Given the description of an element on the screen output the (x, y) to click on. 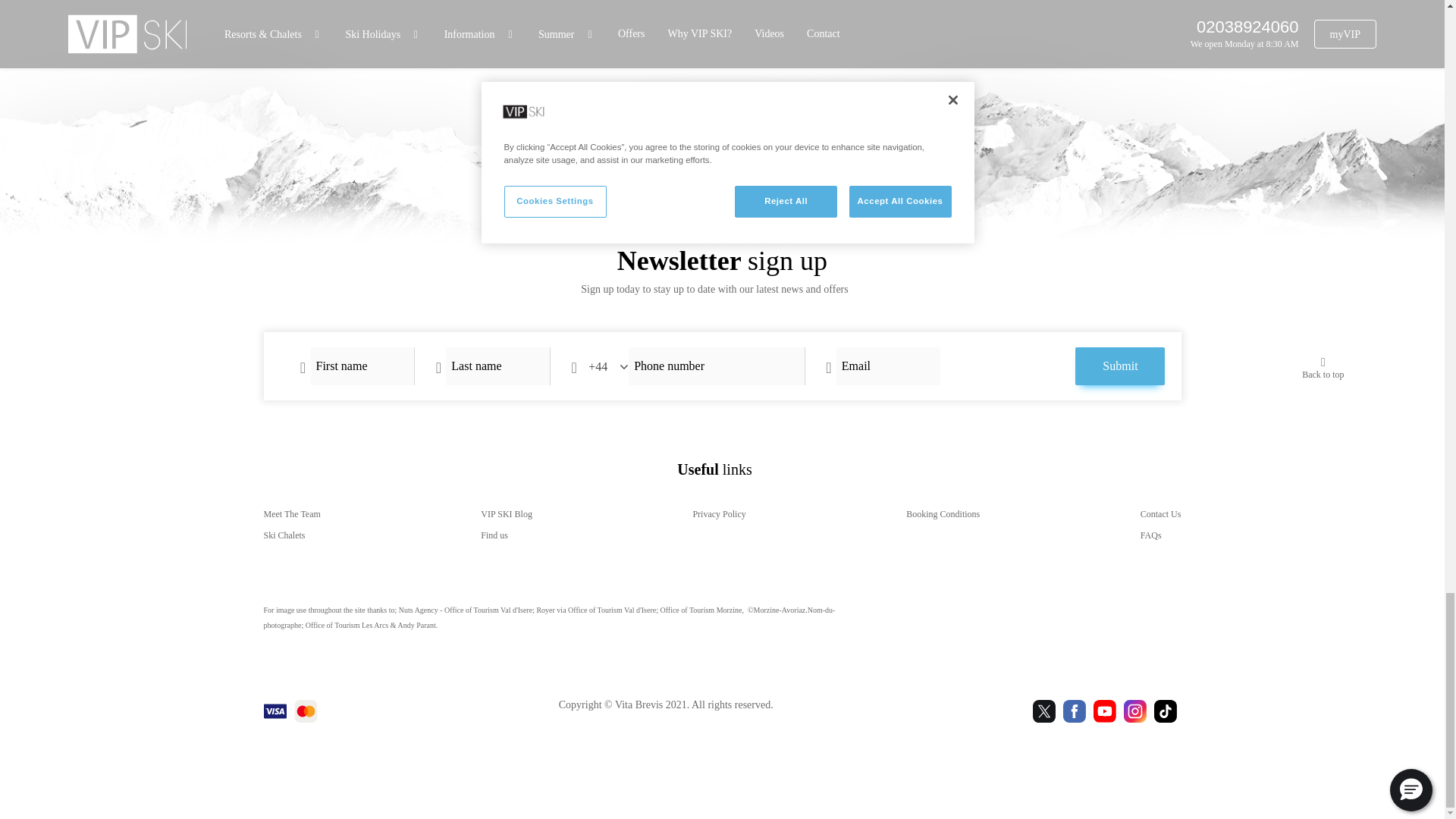
Submit (1119, 365)
